Given the description of an element on the screen output the (x, y) to click on. 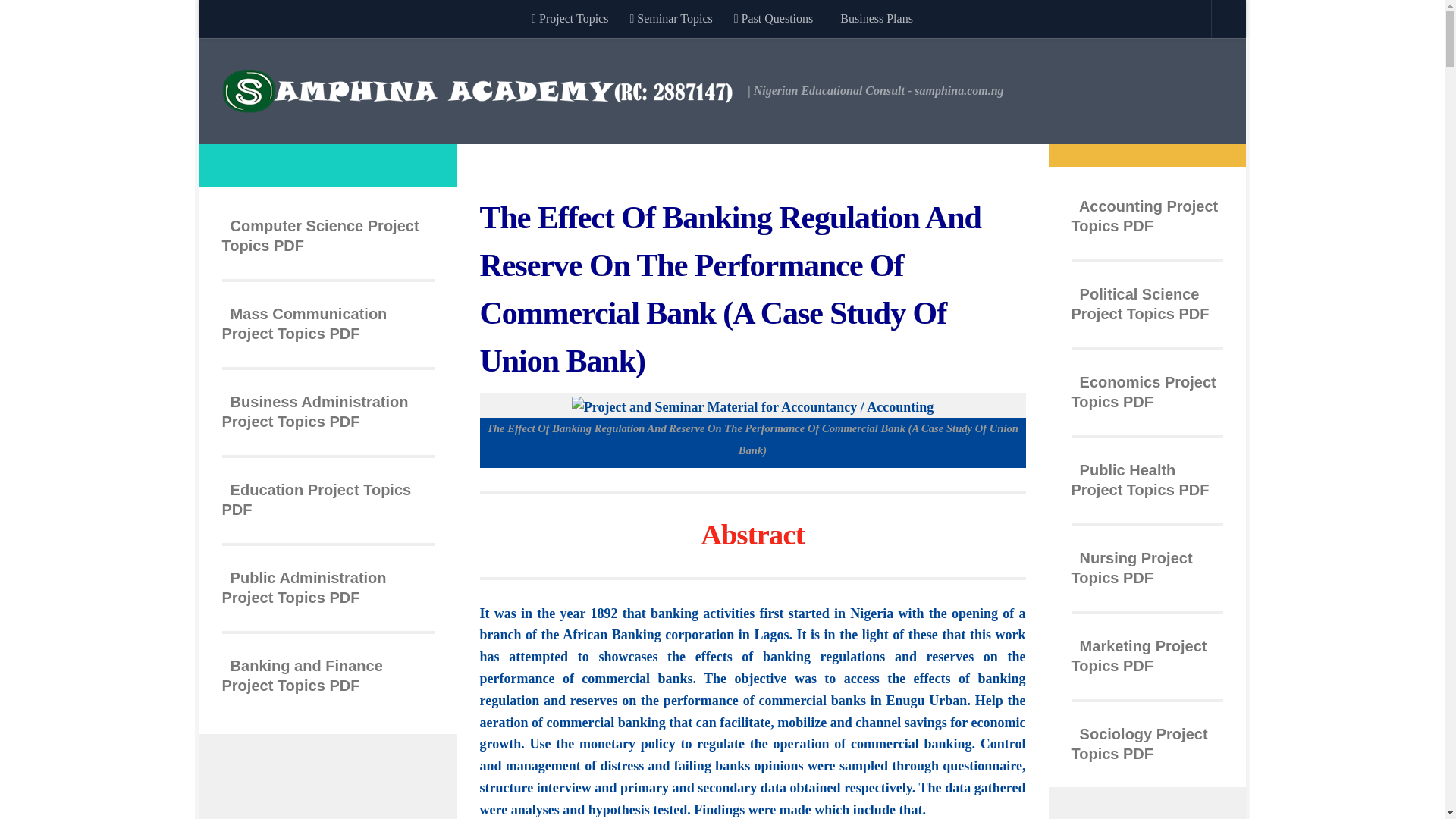
Business Plans (873, 18)
Skip to content (258, 20)
